Given the description of an element on the screen output the (x, y) to click on. 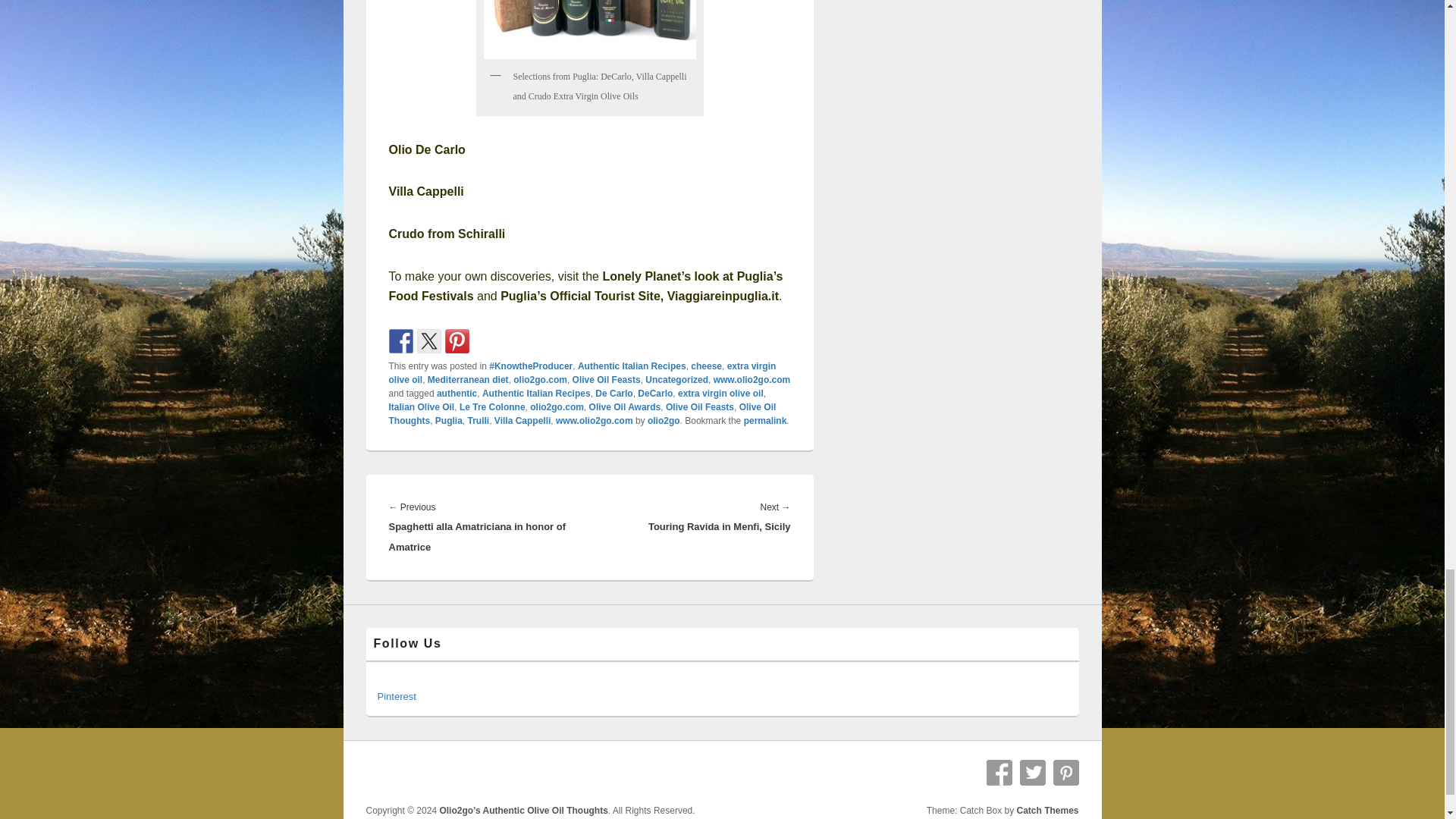
Share on Twitter (428, 340)
De Carlo (613, 393)
olio2go.com (540, 379)
extra virgin olive oil (582, 372)
Viaggiareinpuglia.it (722, 295)
www.olio2go.com (751, 379)
Mediterranean diet (468, 379)
Uncategorized (676, 379)
cheese (706, 366)
Olio De Carlo (426, 149)
Olive Oil Feasts (606, 379)
Authentic Italian Recipes (631, 366)
Permalink to Discovering Puglia: Cuisine and Olive Oil (765, 420)
Share on Facebook (400, 340)
Crudo from Schiralli (446, 233)
